Given the description of an element on the screen output the (x, y) to click on. 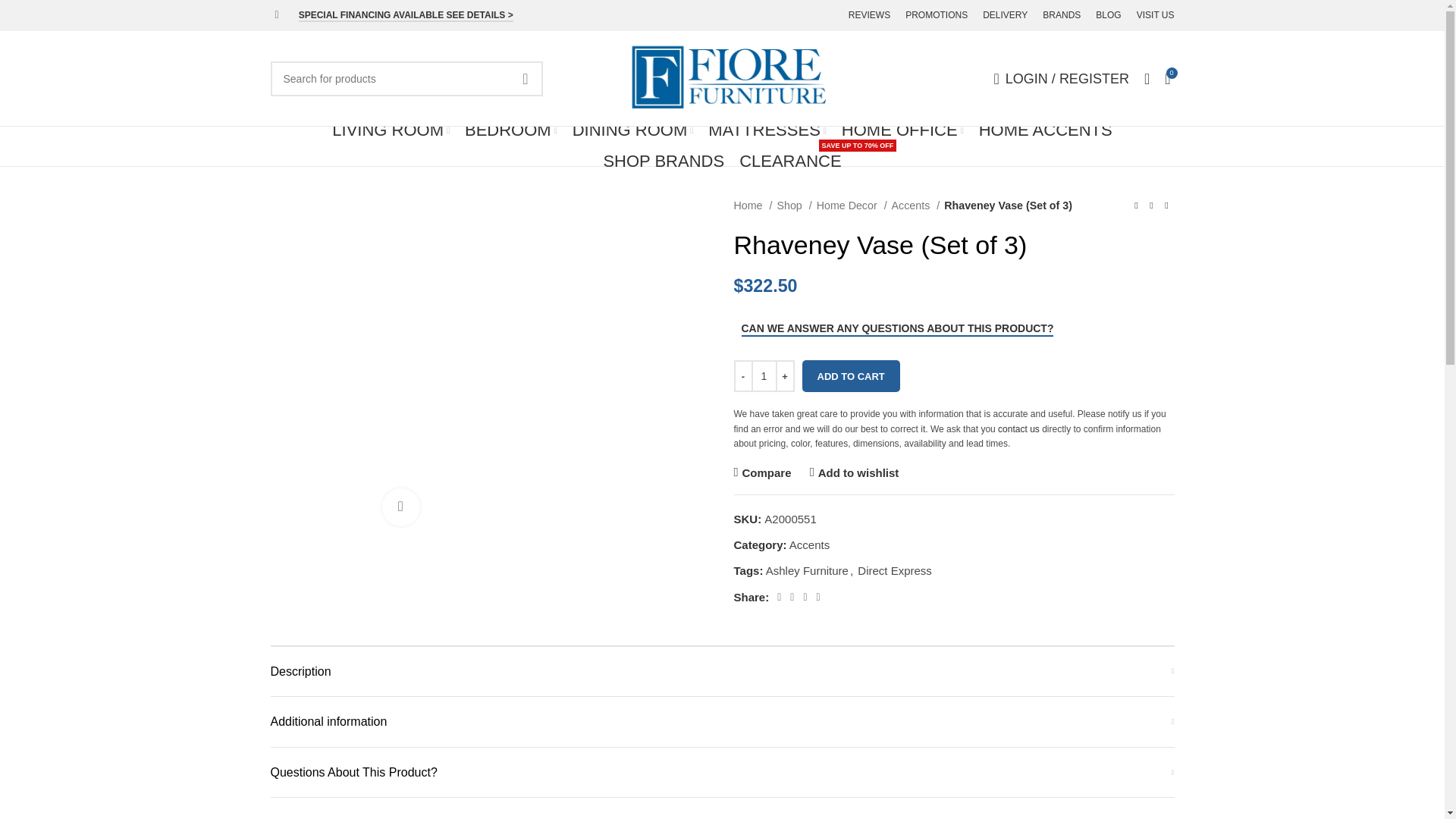
VISIT US (1155, 15)
REVIEWS (868, 15)
BRANDS (1061, 15)
Search for products (405, 77)
LIVING ROOM (390, 130)
DELIVERY (1004, 15)
PROMOTIONS (936, 15)
BEDROOM (510, 130)
SEARCH (525, 77)
My account (1062, 78)
